Given the description of an element on the screen output the (x, y) to click on. 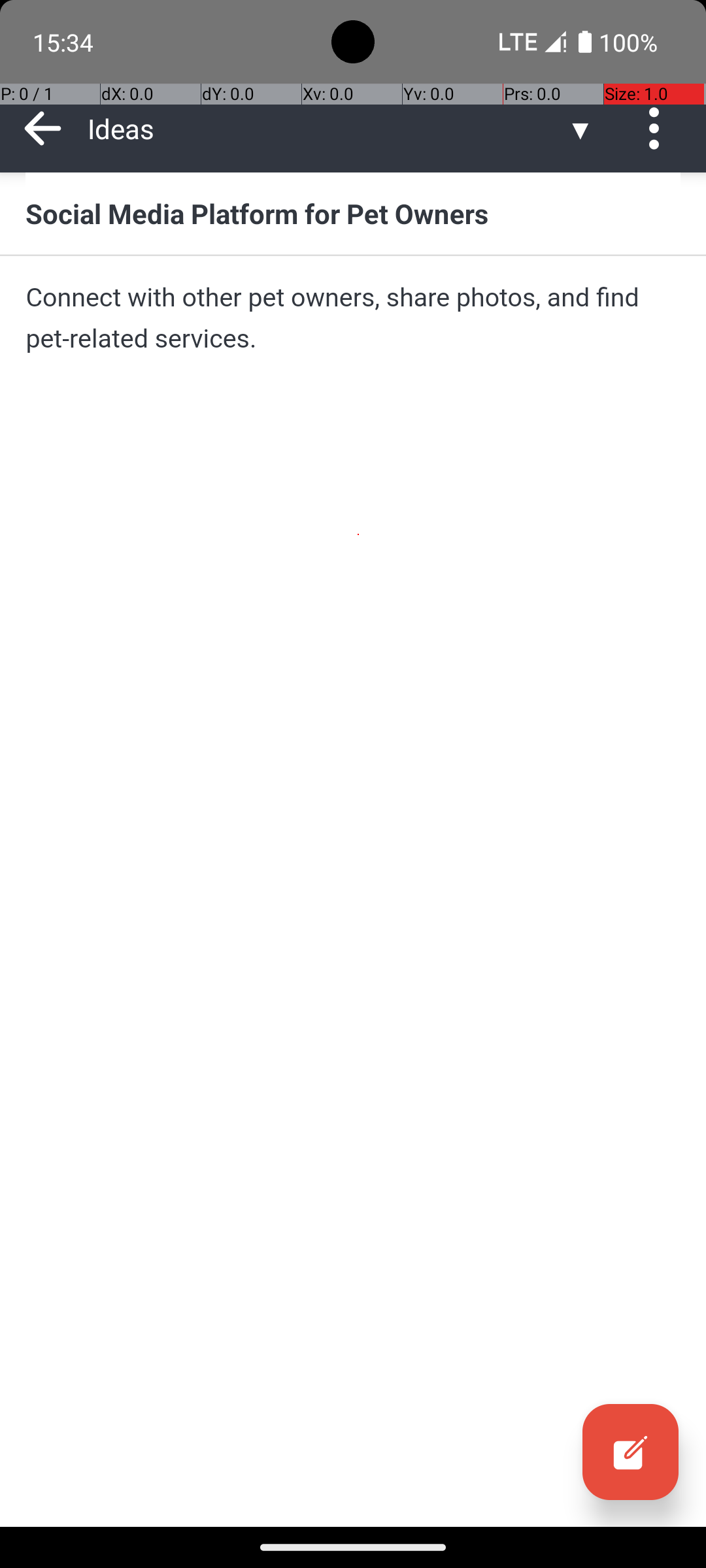
Connect with other pet owners, share photos, and find pet-related services. Element type: android.widget.TextView (352, 317)
